Given the description of an element on the screen output the (x, y) to click on. 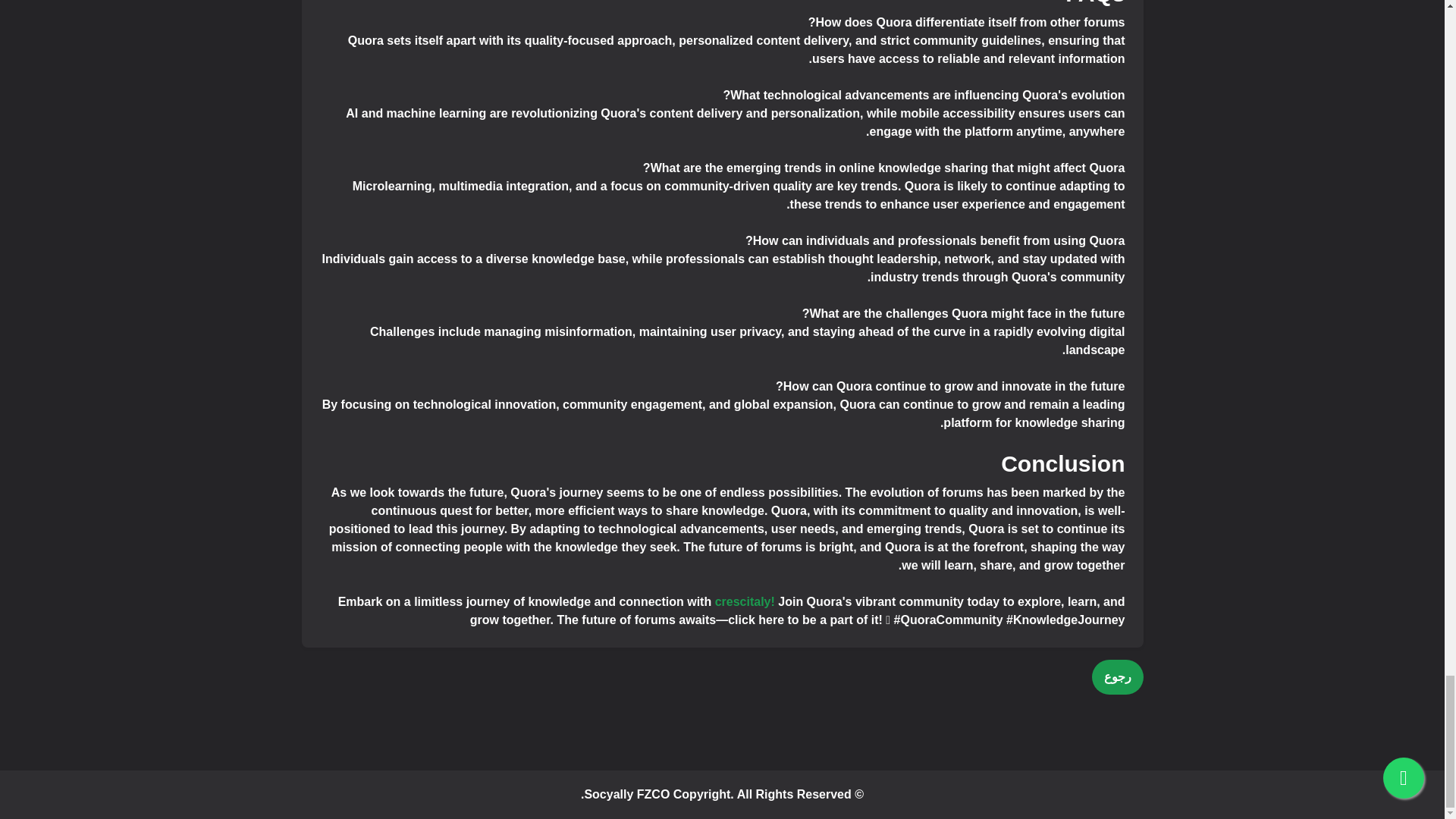
crescitaly! (744, 601)
